Given the description of an element on the screen output the (x, y) to click on. 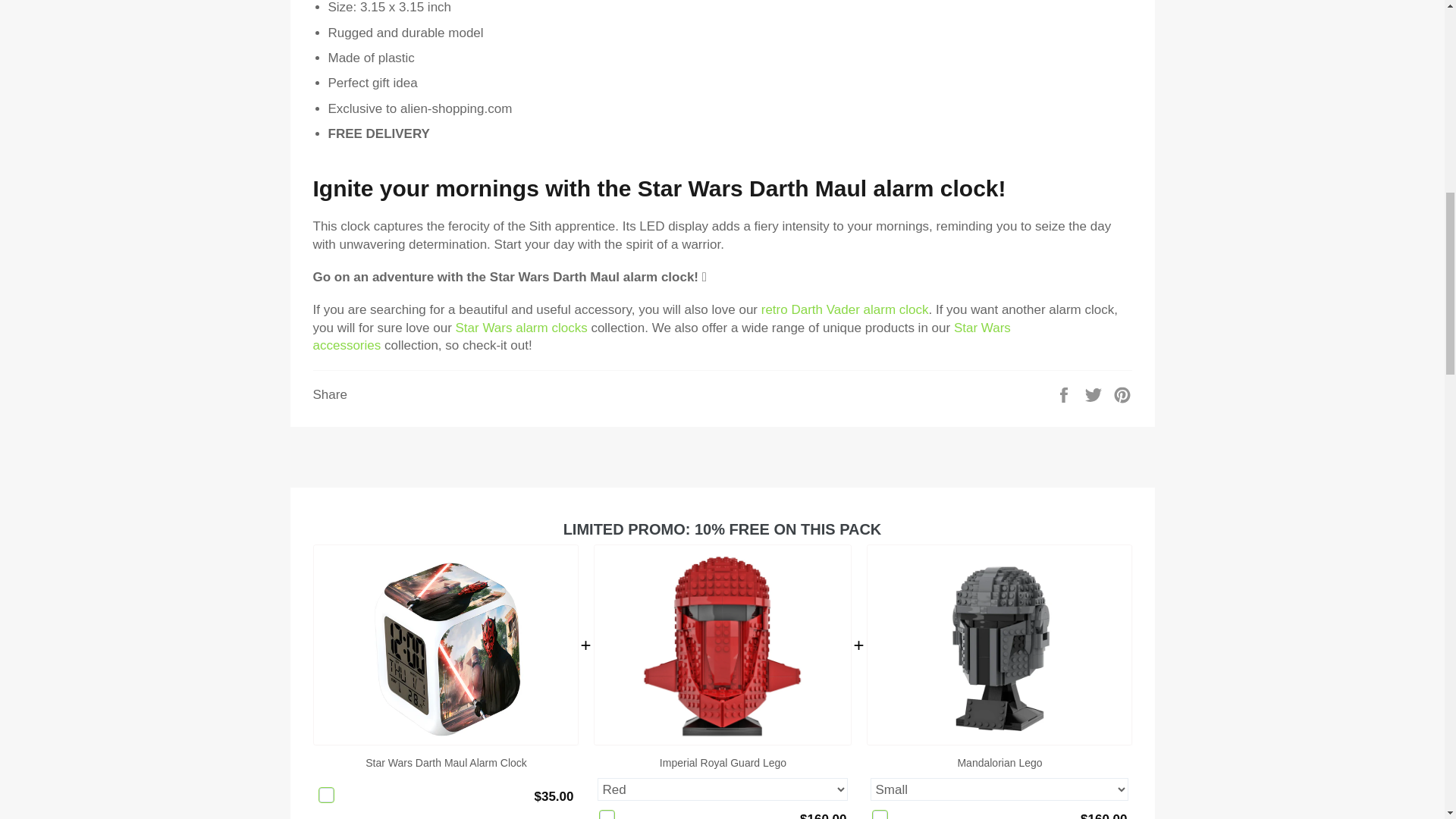
on (880, 814)
on (606, 814)
on (326, 795)
